Given the description of an element on the screen output the (x, y) to click on. 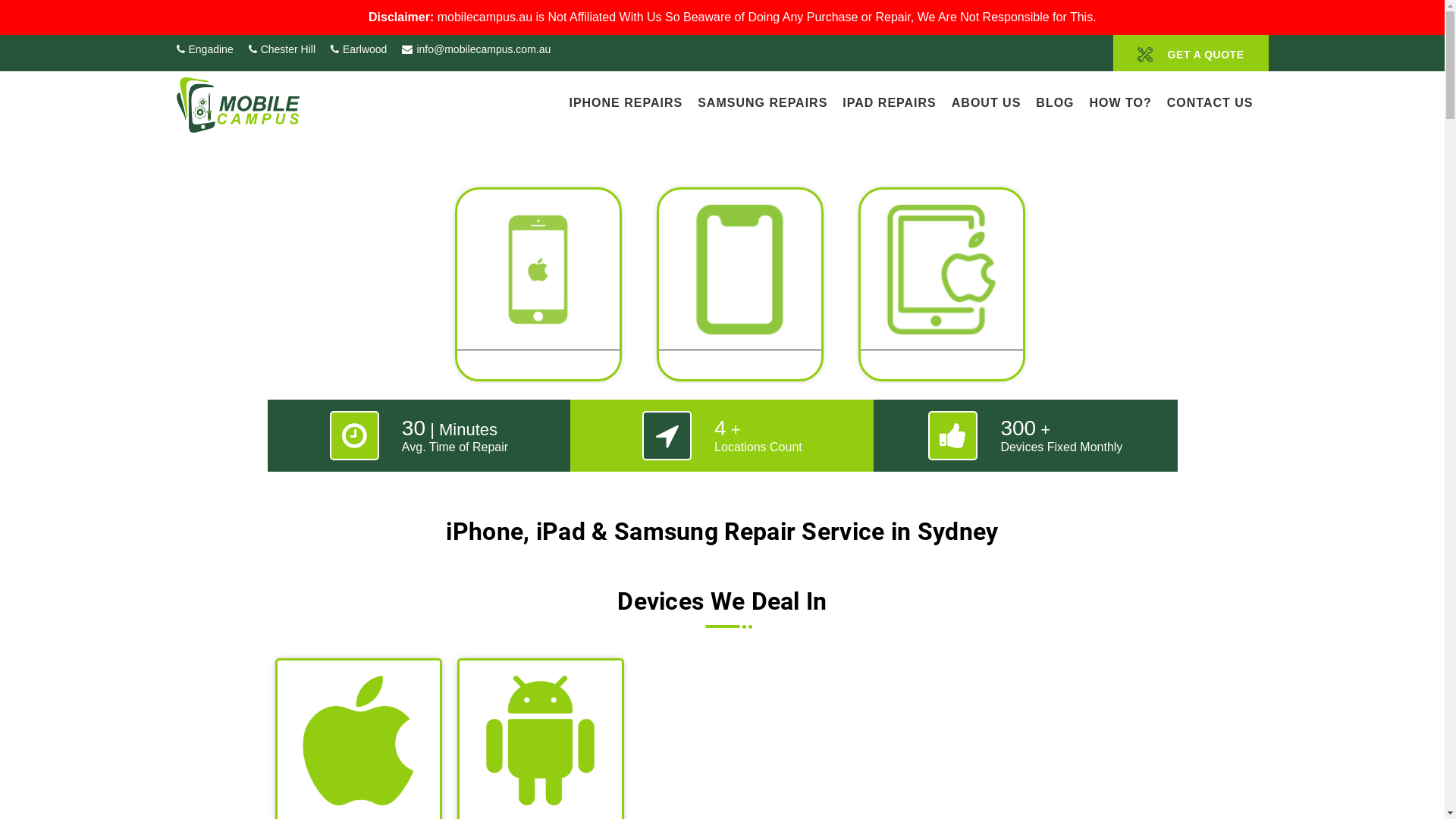
ABOUT US Element type: text (986, 101)
HOW TO? Element type: text (1120, 101)
IPHONE REPAIRS Element type: text (625, 101)
Chester Hill Element type: text (281, 49)
CONTACT US Element type: text (1210, 101)
iPhone Repair Element type: text (537, 291)
Earlwood Element type: text (358, 49)
info@mobilecampus.com.au Element type: text (475, 49)
IPAD REPAIRS Element type: text (888, 101)
BLOG Element type: text (1054, 101)
iPad Repair Element type: text (940, 291)
Engadine Element type: text (203, 49)
SAMSUNG REPAIRS Element type: text (762, 101)
Samsung Repairs Element type: text (739, 291)
GET A QUOTE Element type: text (1190, 52)
